Given the description of an element on the screen output the (x, y) to click on. 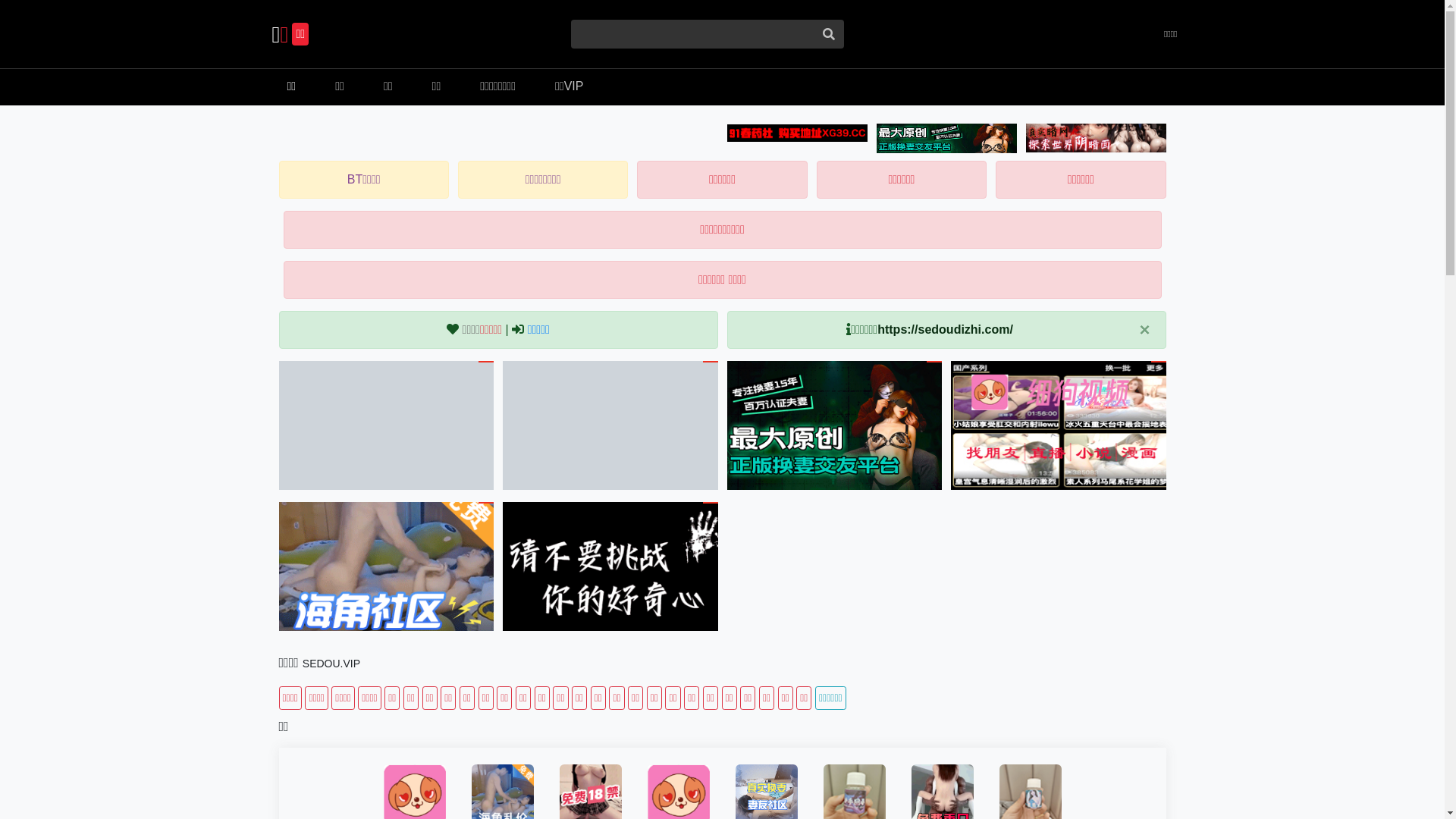
SEDOU.VIP Element type: text (331, 663)
https://sedoudizhi.com/ Element type: text (945, 329)
